Given the description of an element on the screen output the (x, y) to click on. 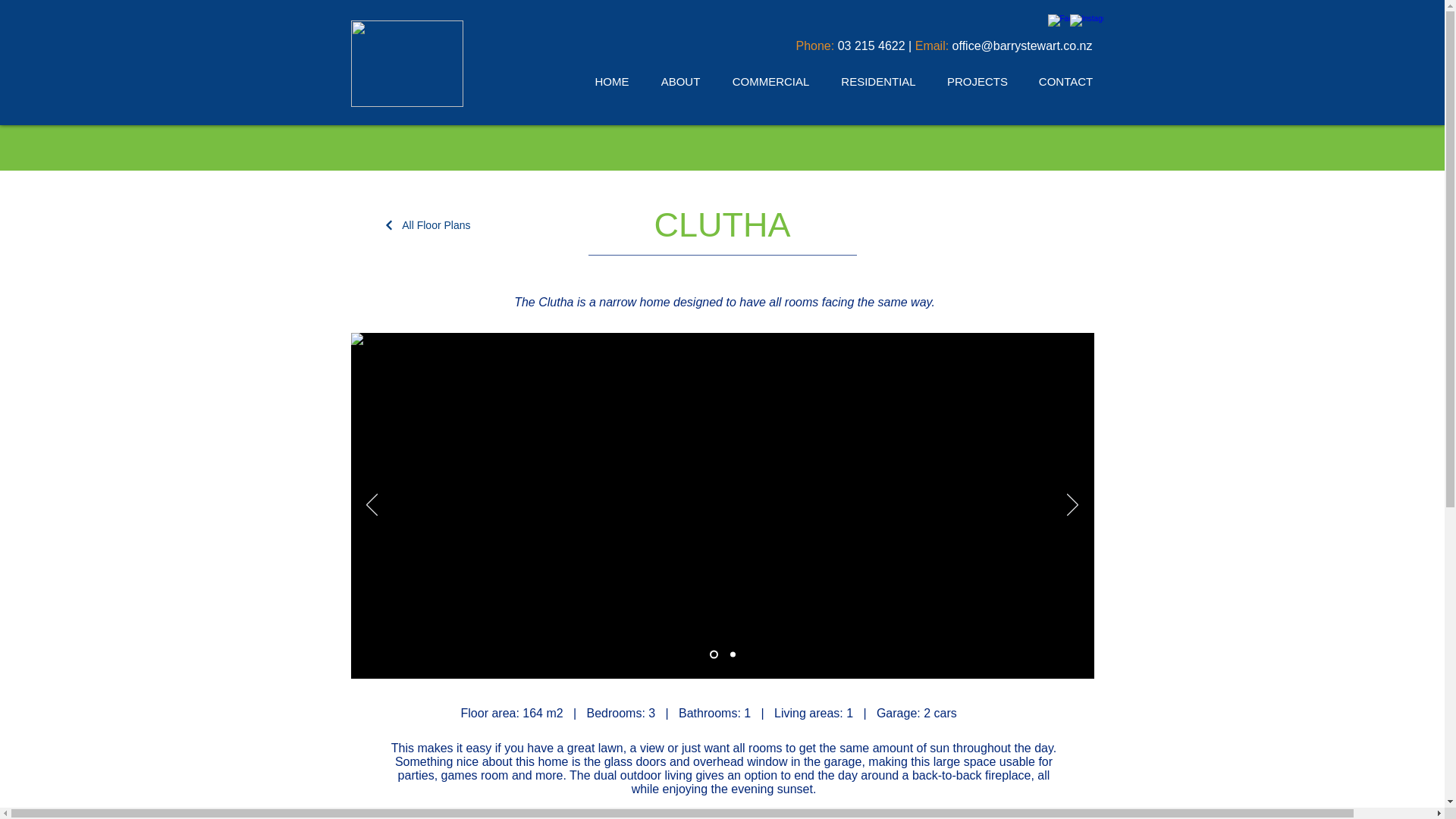
HOME (612, 81)
ABOUT (680, 81)
RESIDENTIAL (878, 81)
PROJECTS (977, 81)
CONTACT (1065, 81)
COMMERCIAL (770, 81)
All Floor Plans (420, 224)
03 215 4622 (871, 45)
